Given the description of an element on the screen output the (x, y) to click on. 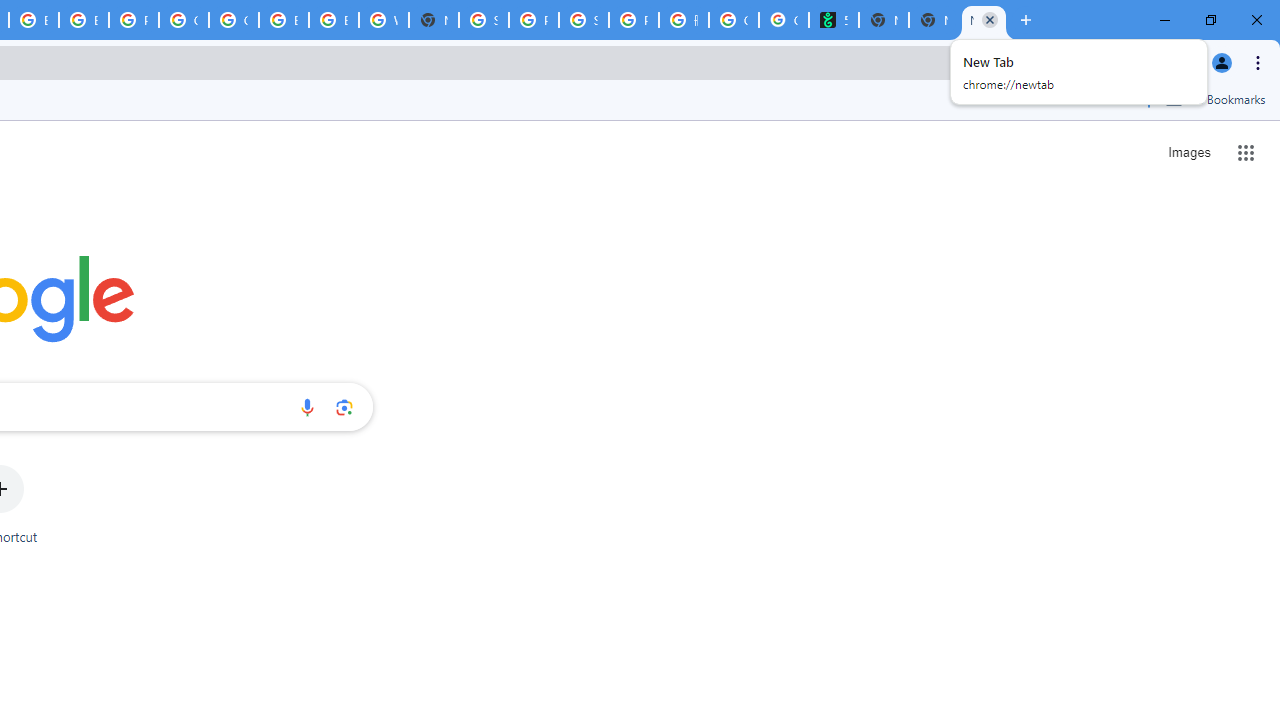
Browse Chrome as a guest - Computer - Google Chrome Help (333, 20)
Browse Chrome as a guest - Computer - Google Chrome Help (33, 20)
All Bookmarks (1215, 99)
New Tab (1025, 20)
Search for Images  (1188, 152)
Minimize (1165, 20)
Close (989, 19)
Google apps (1245, 152)
New Tab (983, 20)
Browse Chrome as a guest - Computer - Google Chrome Help (283, 20)
Browse Chrome as a guest - Computer - Google Chrome Help (83, 20)
